Given the description of an element on the screen output the (x, y) to click on. 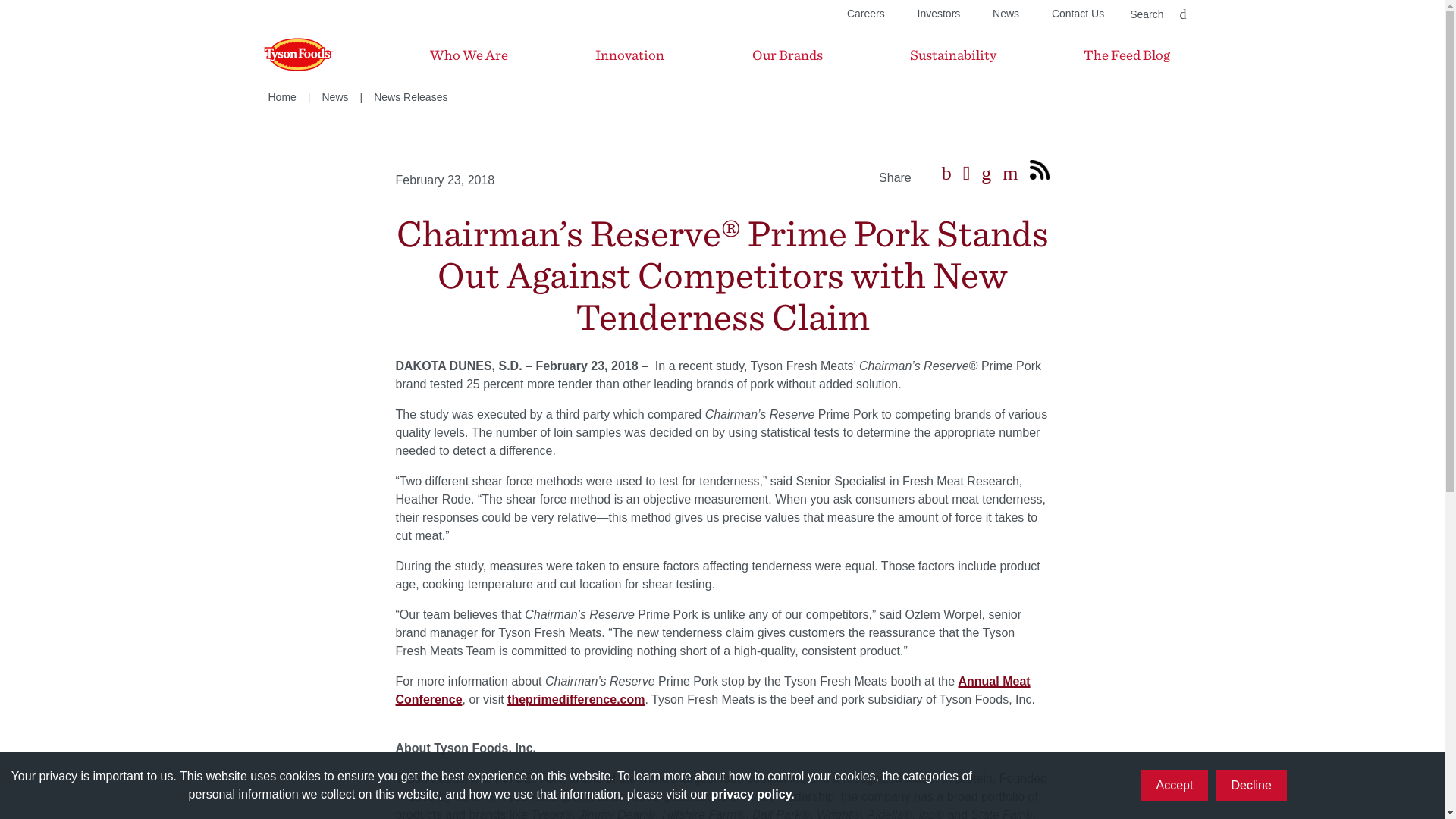
Tyson Foods (283, 54)
